Given the description of an element on the screen output the (x, y) to click on. 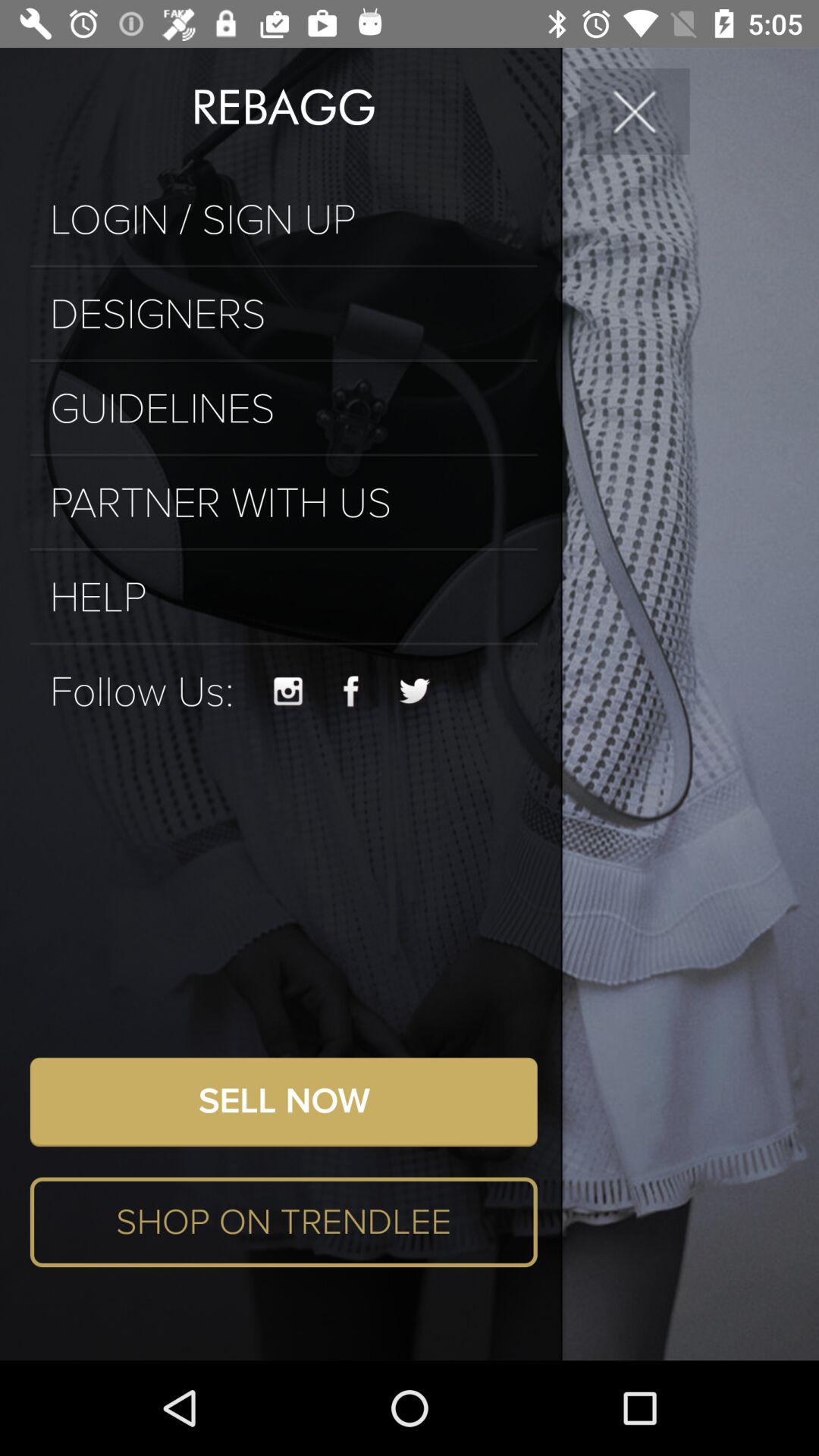
press the item above the sell now item (415, 691)
